Given the description of an element on the screen output the (x, y) to click on. 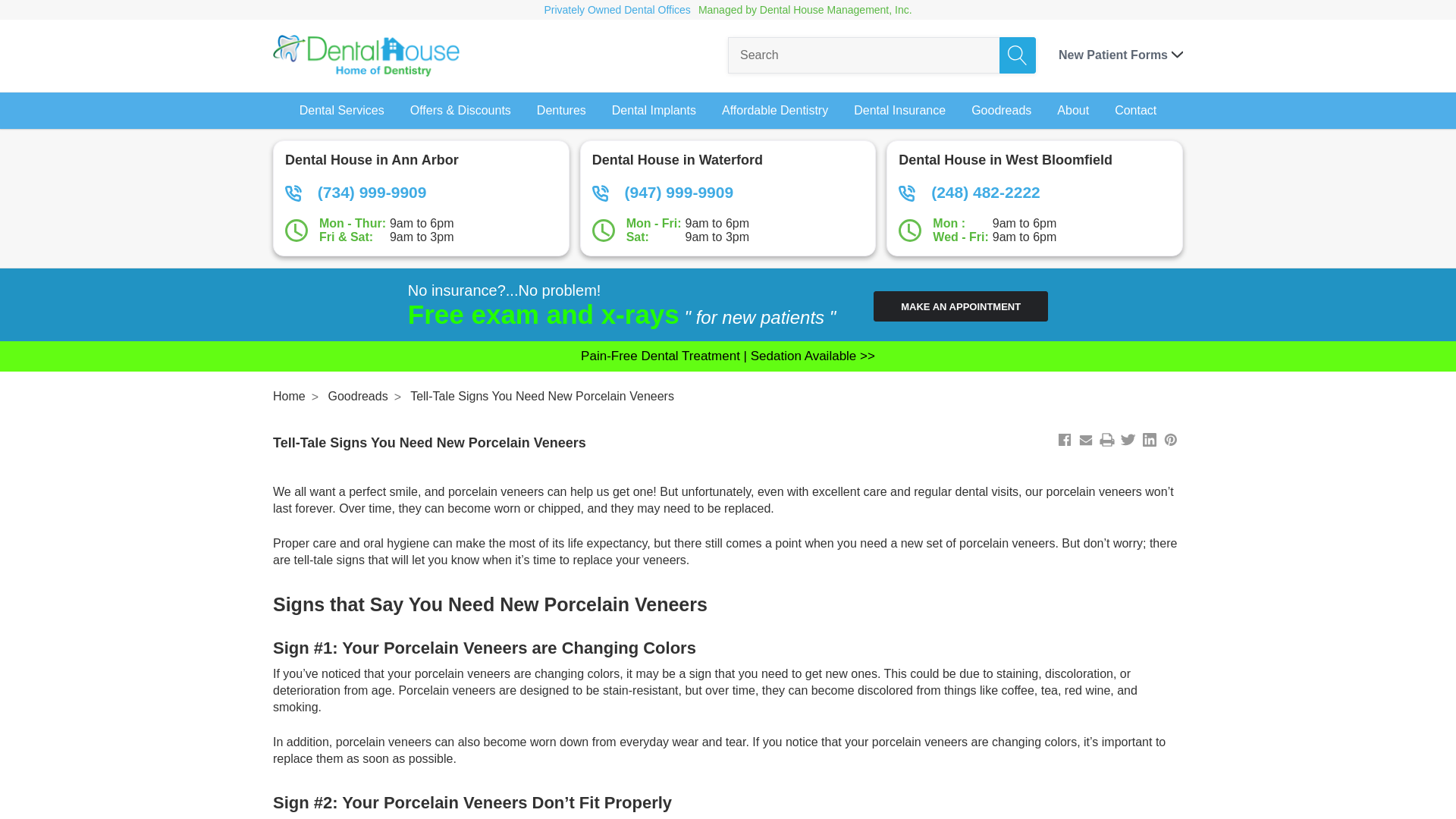
Call Dentist Office Phone Number in  West Bloomfield (1034, 192)
Call Dentist Office Phone Number in  Waterford (728, 192)
Call Dentist Office Phone Number in Ann Arbor (421, 192)
